Given the description of an element on the screen output the (x, y) to click on. 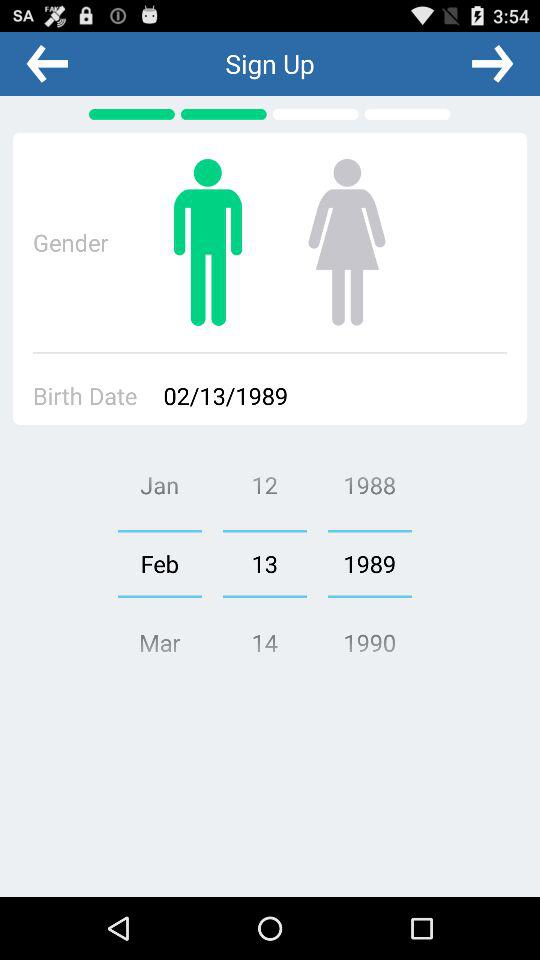
select gender (208, 242)
